Given the description of an element on the screen output the (x, y) to click on. 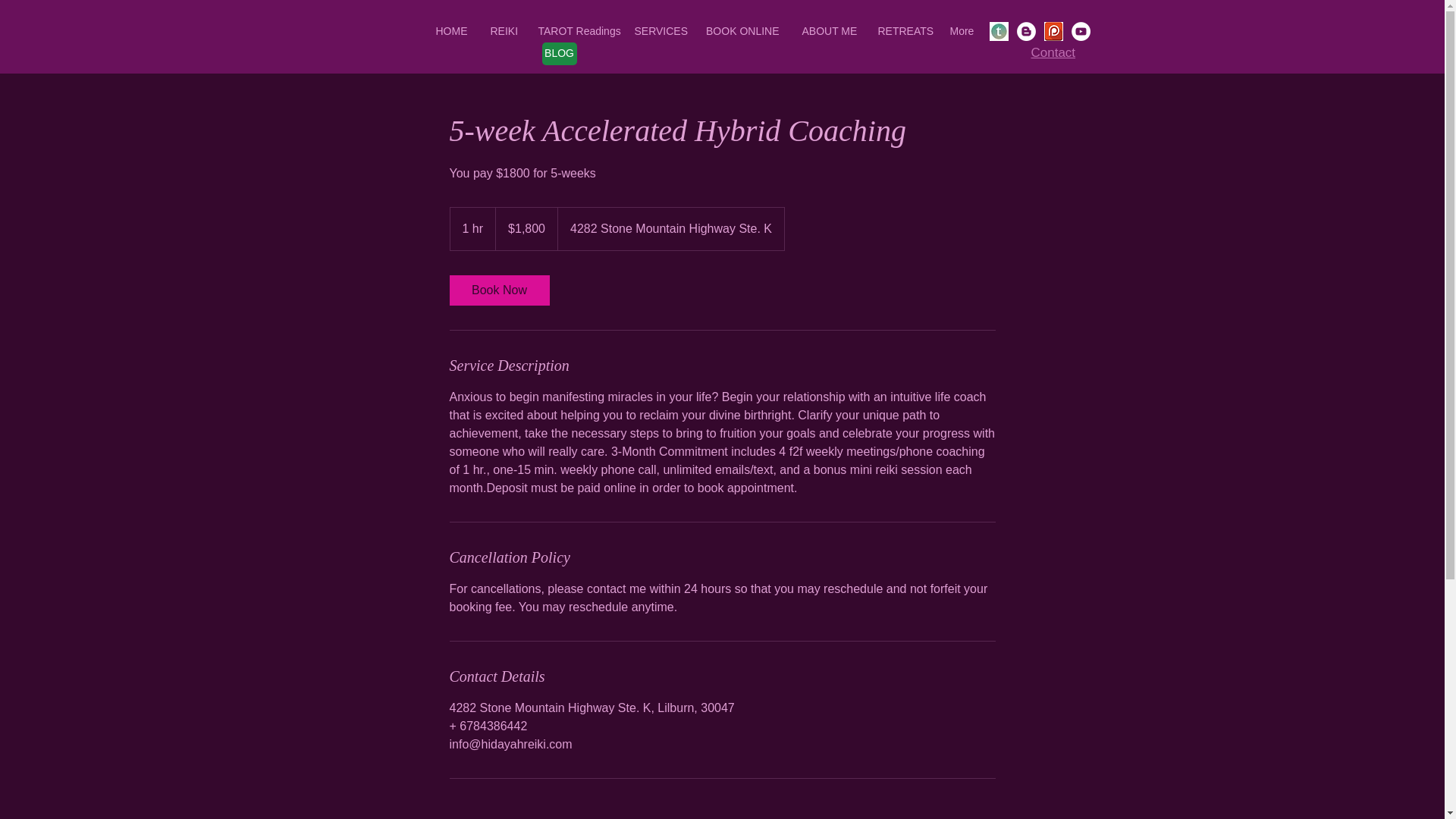
SERVICES (658, 31)
RETREATS (901, 31)
HOME (451, 31)
REIKI (503, 31)
BOOK ONLINE (742, 31)
BLOG (558, 53)
TAROT Readings (574, 31)
ABOUT ME (828, 31)
Contact (1052, 52)
Book Now (498, 290)
